Given the description of an element on the screen output the (x, y) to click on. 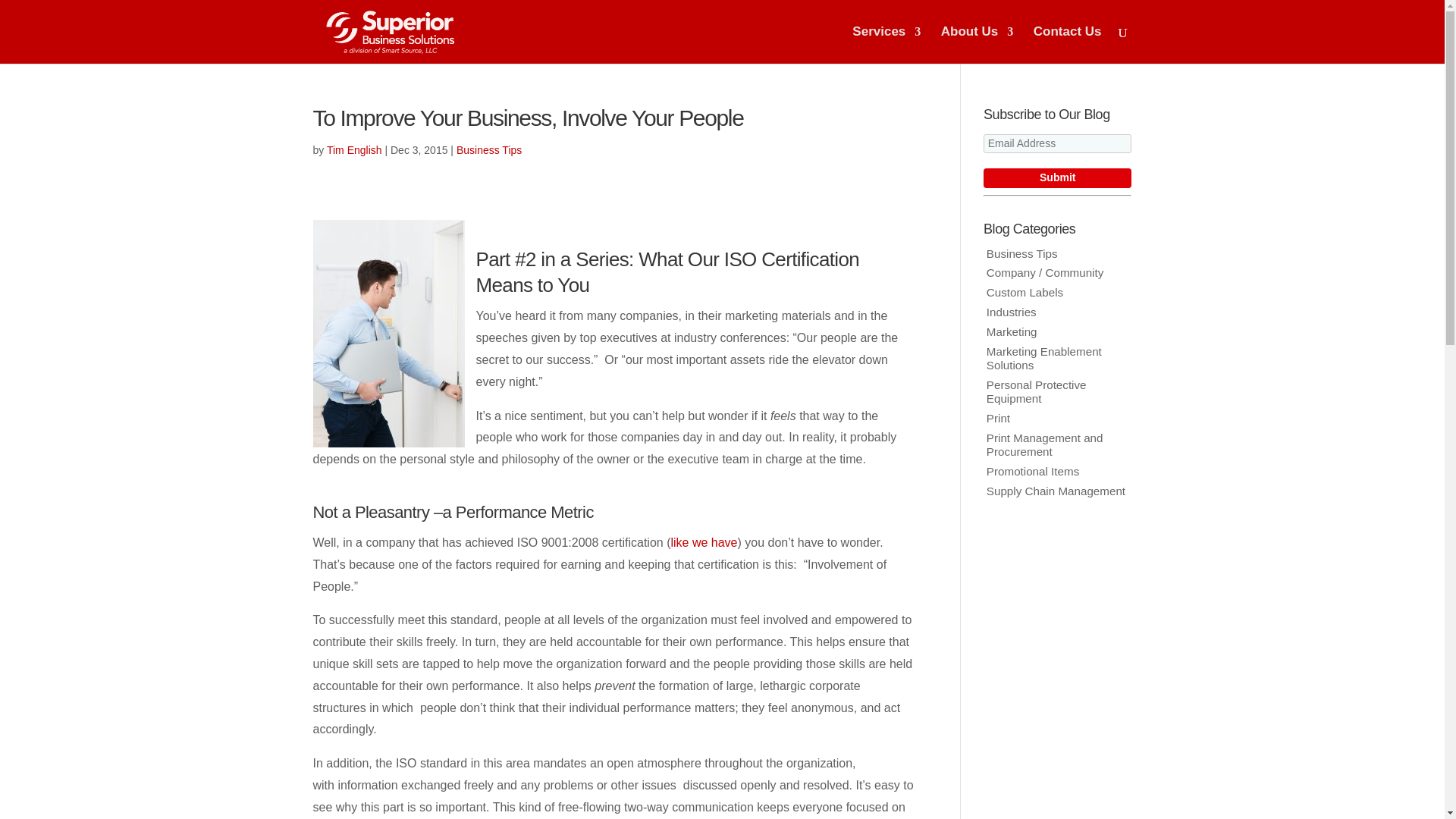
Business Tips (1022, 253)
Submit (1057, 178)
Custom Labels (1024, 291)
Industries (1011, 311)
Contact Us (1067, 44)
like we have (702, 542)
Marketing Enablement Solutions (1044, 357)
Print Management and Procurement (1045, 444)
Supply Chain Management (1056, 490)
Print (998, 418)
